Given the description of an element on the screen output the (x, y) to click on. 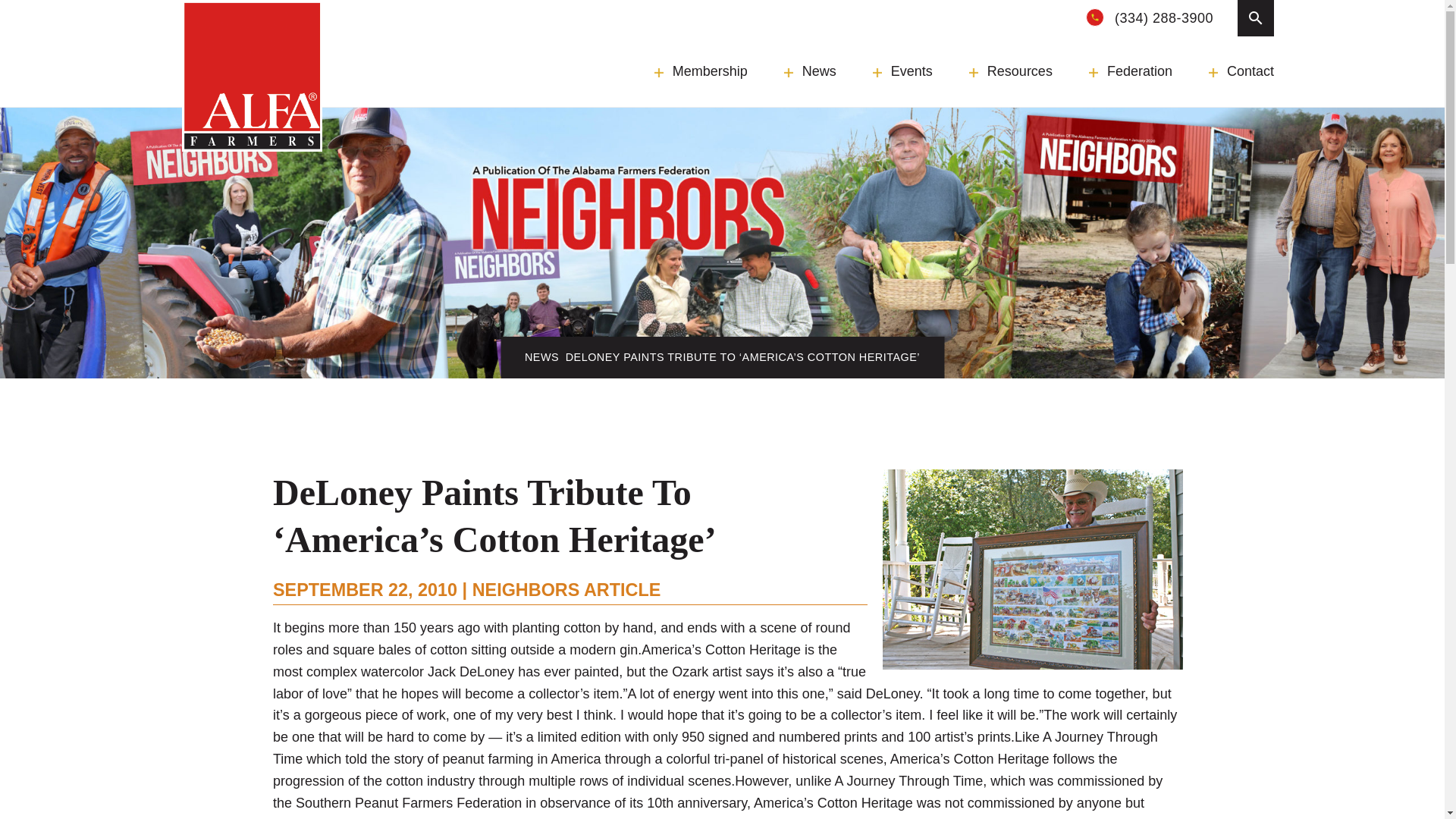
Federation (1130, 71)
Membership (700, 71)
Alabama Farmers Federation (251, 75)
Alabama Farmers Federation (251, 75)
Contact (1241, 71)
Search (416, 12)
Resources (1010, 71)
News (809, 71)
Events (902, 71)
Search (1255, 18)
